Given the description of an element on the screen output the (x, y) to click on. 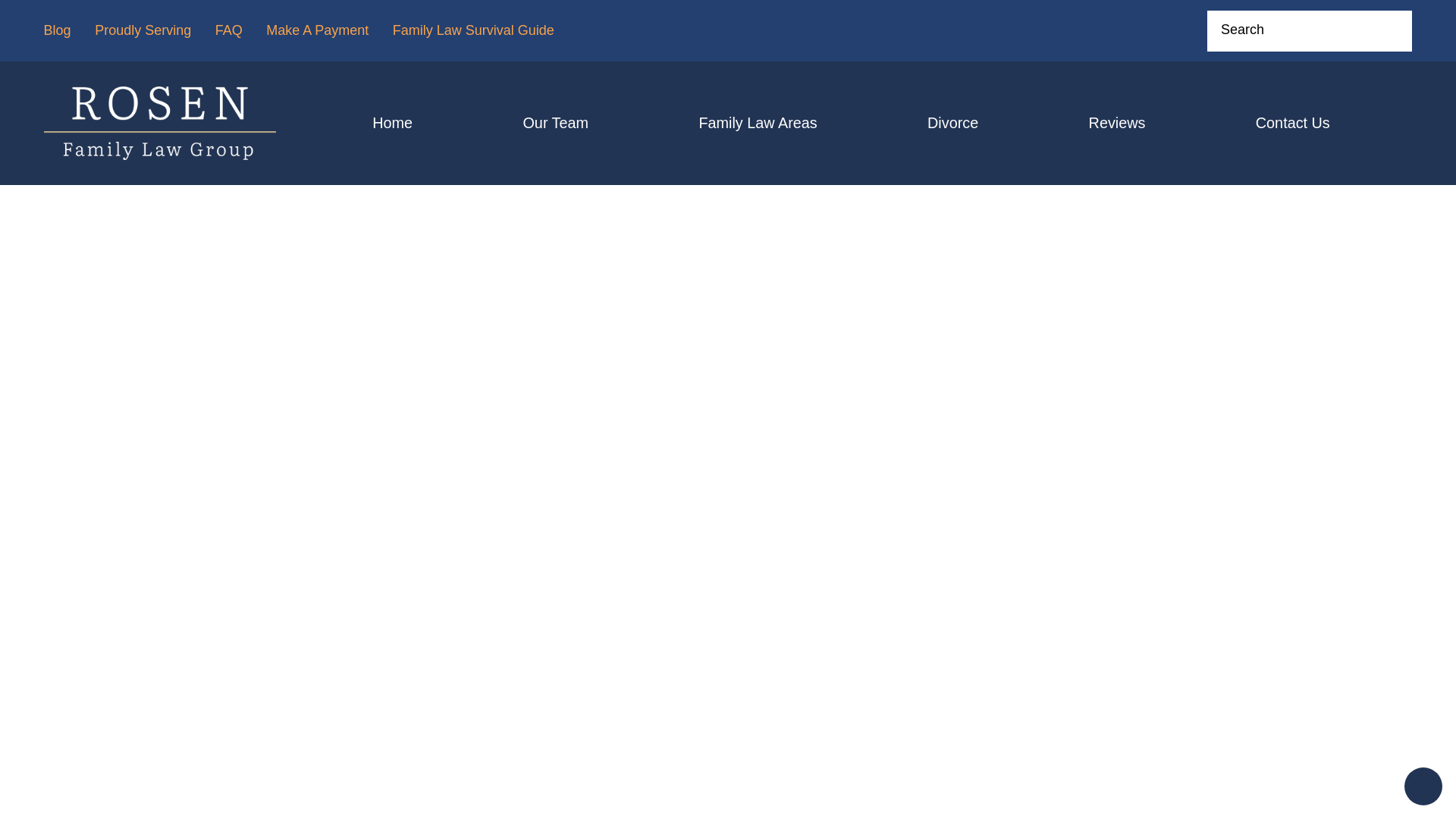
Search Icon (1390, 30)
Family Law Survival Guide (473, 29)
Divorce (952, 122)
Reviews (1116, 122)
Contact Us (1291, 122)
Blog (57, 29)
Family Law Areas (757, 122)
Our Team (555, 122)
Home (392, 122)
Rosen Family Law Group (159, 123)
FAQ (229, 29)
Proudly Serving (142, 29)
Search Our Site (1390, 30)
Make A Payment (317, 29)
